Given the description of an element on the screen output the (x, y) to click on. 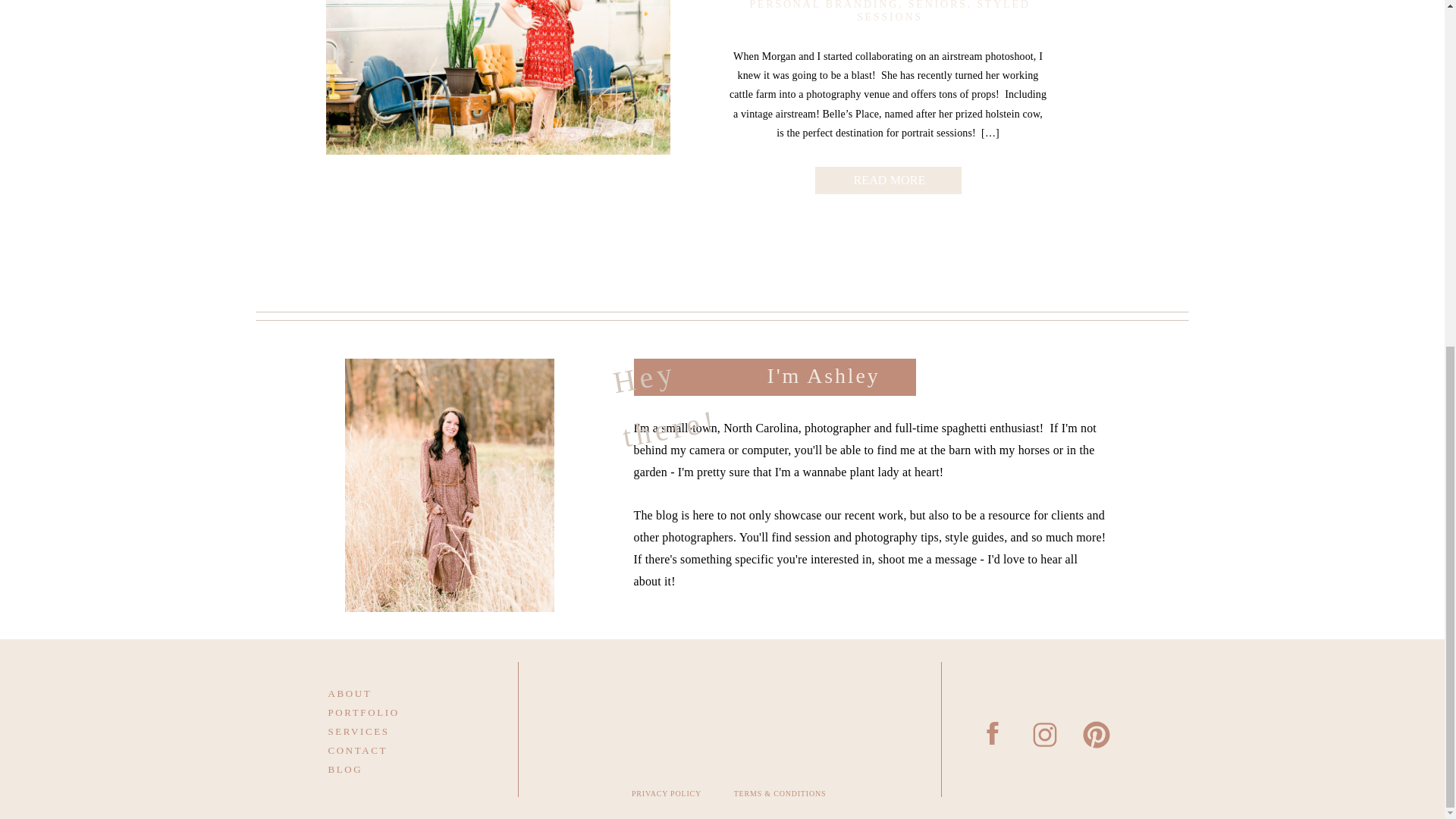
PORTFOLIO (384, 711)
READ MORE (888, 177)
ABOUT (384, 692)
PRIVACY POLICY (666, 797)
PERSONAL BRANDING (823, 4)
CONTACT (384, 749)
STYLED SESSIONS (943, 11)
SENIORS (938, 4)
SERVICES (384, 729)
BLOG (384, 767)
